Given the description of an element on the screen output the (x, y) to click on. 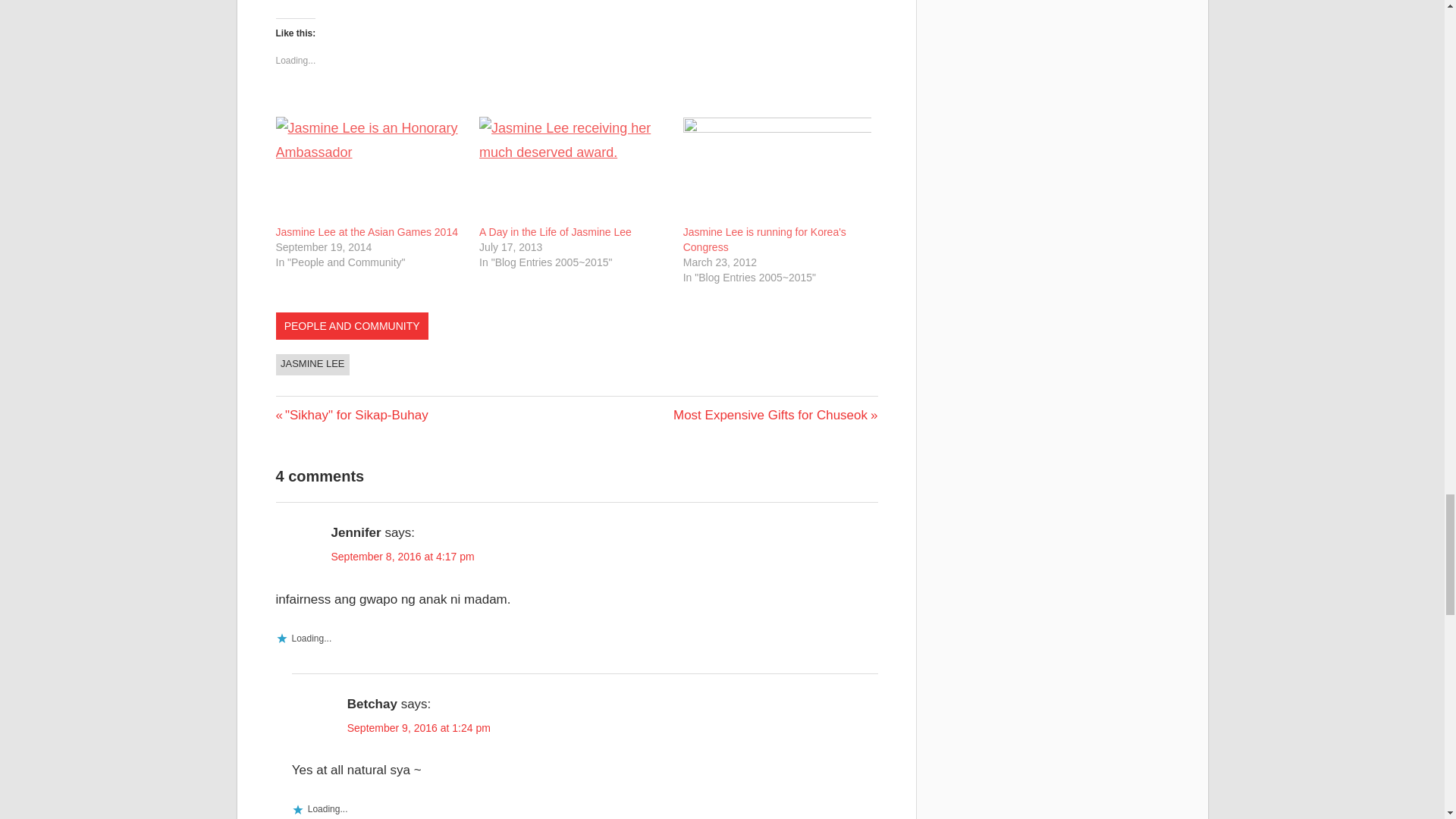
Jasmine Lee at the Asian Games 2014 (367, 232)
A Day in the Life of Jasmine Lee (555, 232)
A Day in the Life of Jasmine Lee (573, 170)
Jasmine Lee is running for Korea's Congress (774, 414)
JASMINE LEE (763, 239)
A Day in the Life of Jasmine Lee (313, 364)
PEOPLE AND COMMUNITY (555, 232)
Jasmine Lee at the Asian Games 2014 (352, 414)
